Given the description of an element on the screen output the (x, y) to click on. 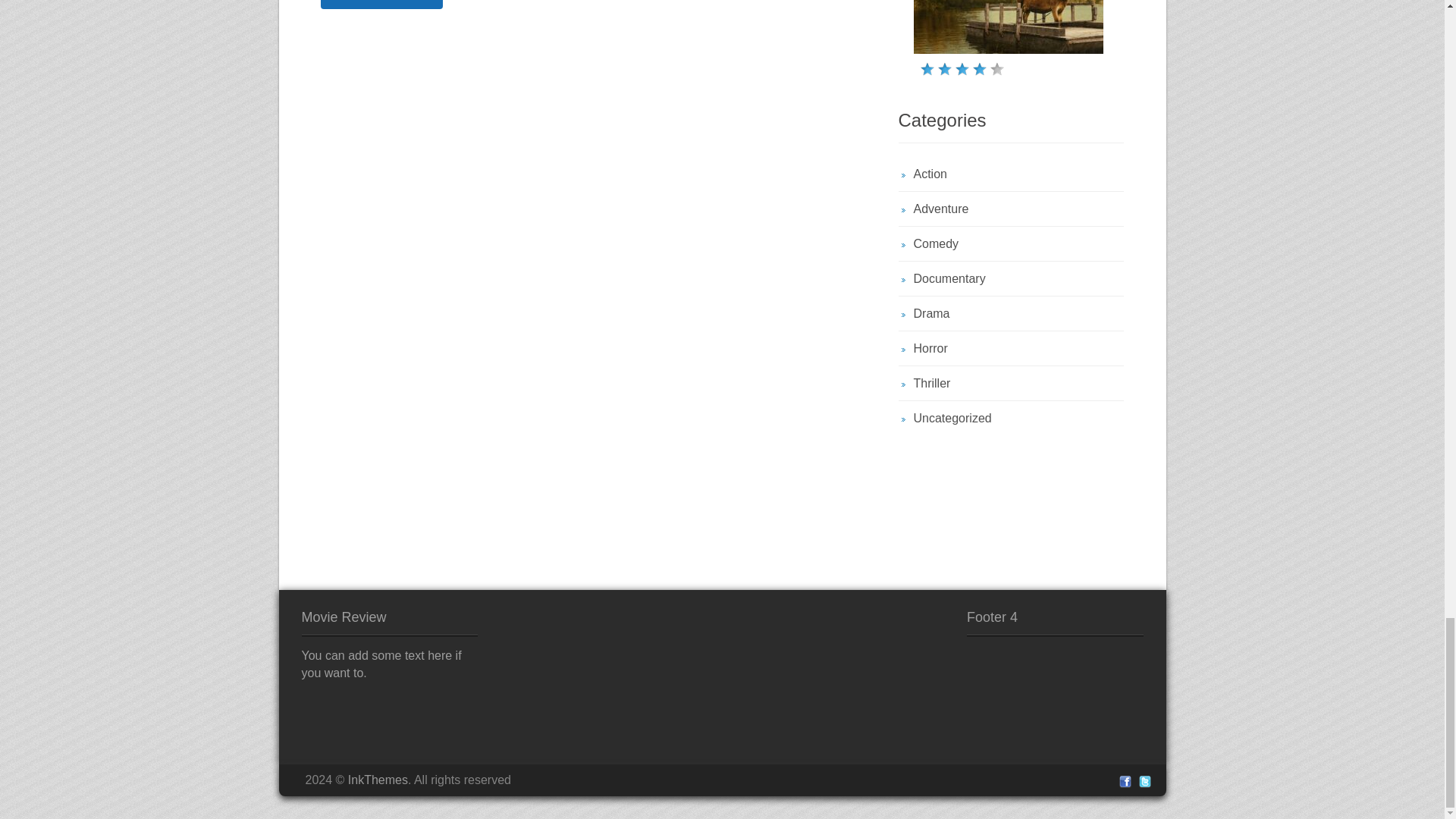
Comedy (935, 243)
Post Comment (381, 4)
Action (929, 173)
Adventure (940, 208)
Post Comment (381, 4)
